Given the description of an element on the screen output the (x, y) to click on. 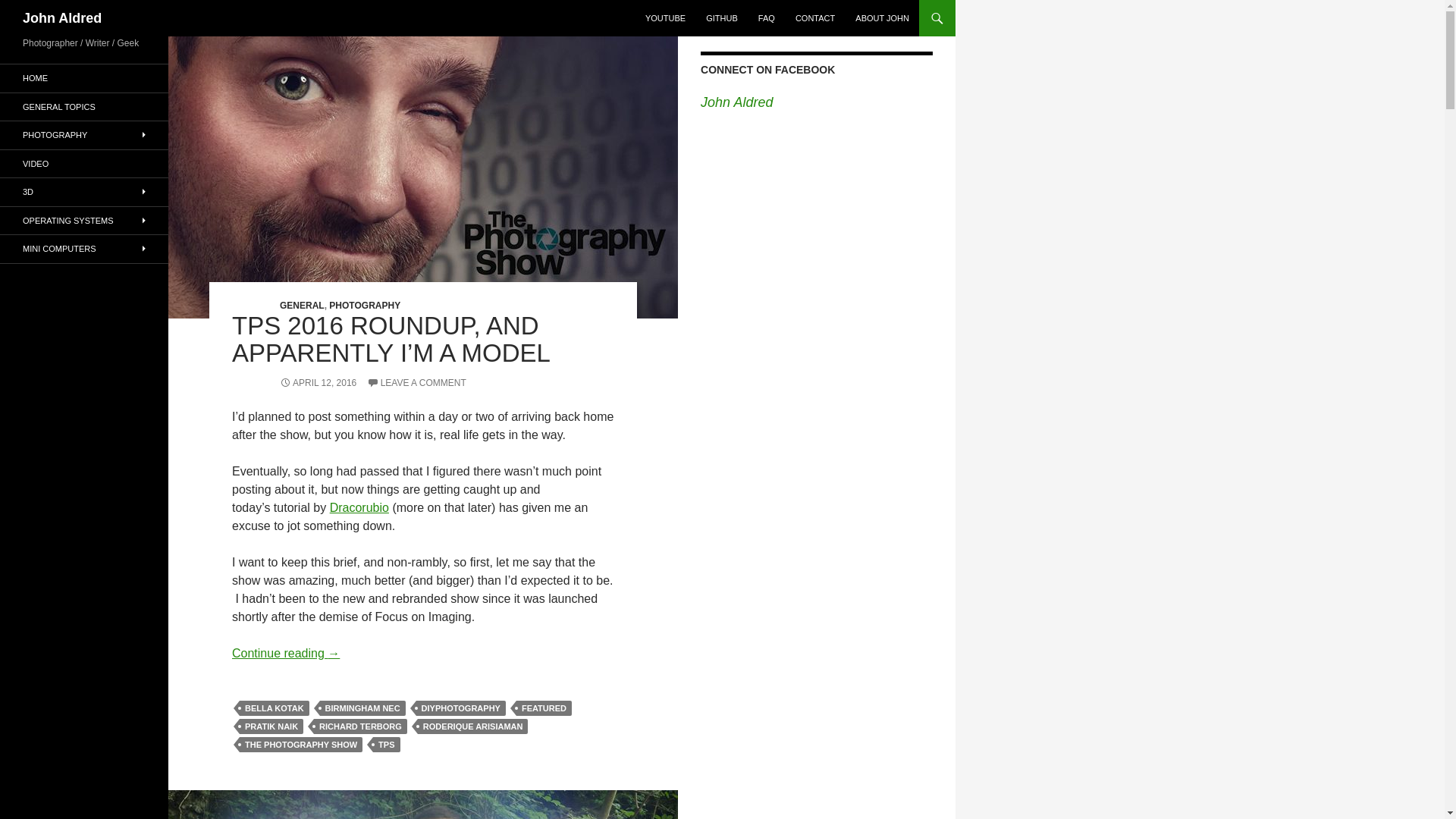
PHOTOGRAPHY (364, 305)
GENERAL (301, 305)
PRATIK NAIK (271, 726)
TPS (385, 744)
Dracorubio (359, 507)
ABOUT JOHN (881, 18)
FEATURED (544, 708)
LEAVE A COMMENT (415, 382)
YOUTUBE (665, 18)
GITHUB (721, 18)
